Given the description of an element on the screen output the (x, y) to click on. 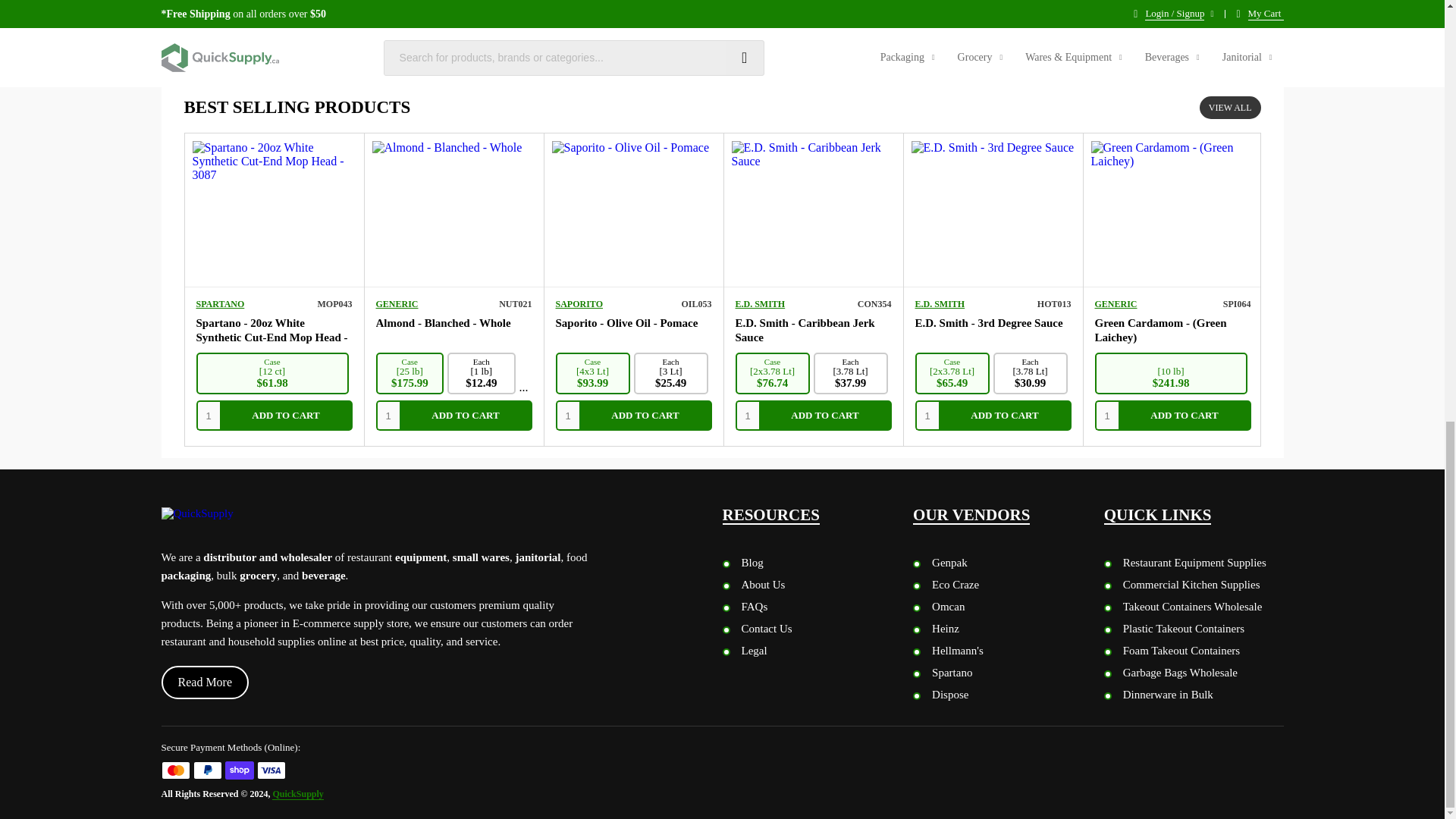
Almond - Blanched - Whole (443, 322)
Spartano - 20oz White Synthetic Cut-End Mop Head - 3087 (271, 336)
Mastercard (174, 770)
PayPal (206, 770)
Saporito - Olive Oil - Pomace (625, 322)
E.D. Smith - 3rd Degree Sauce (988, 322)
E.D. Smith - Caribbean Jerk Sauce (805, 329)
Shop Pay (238, 770)
Visa (270, 770)
